Given the description of an element on the screen output the (x, y) to click on. 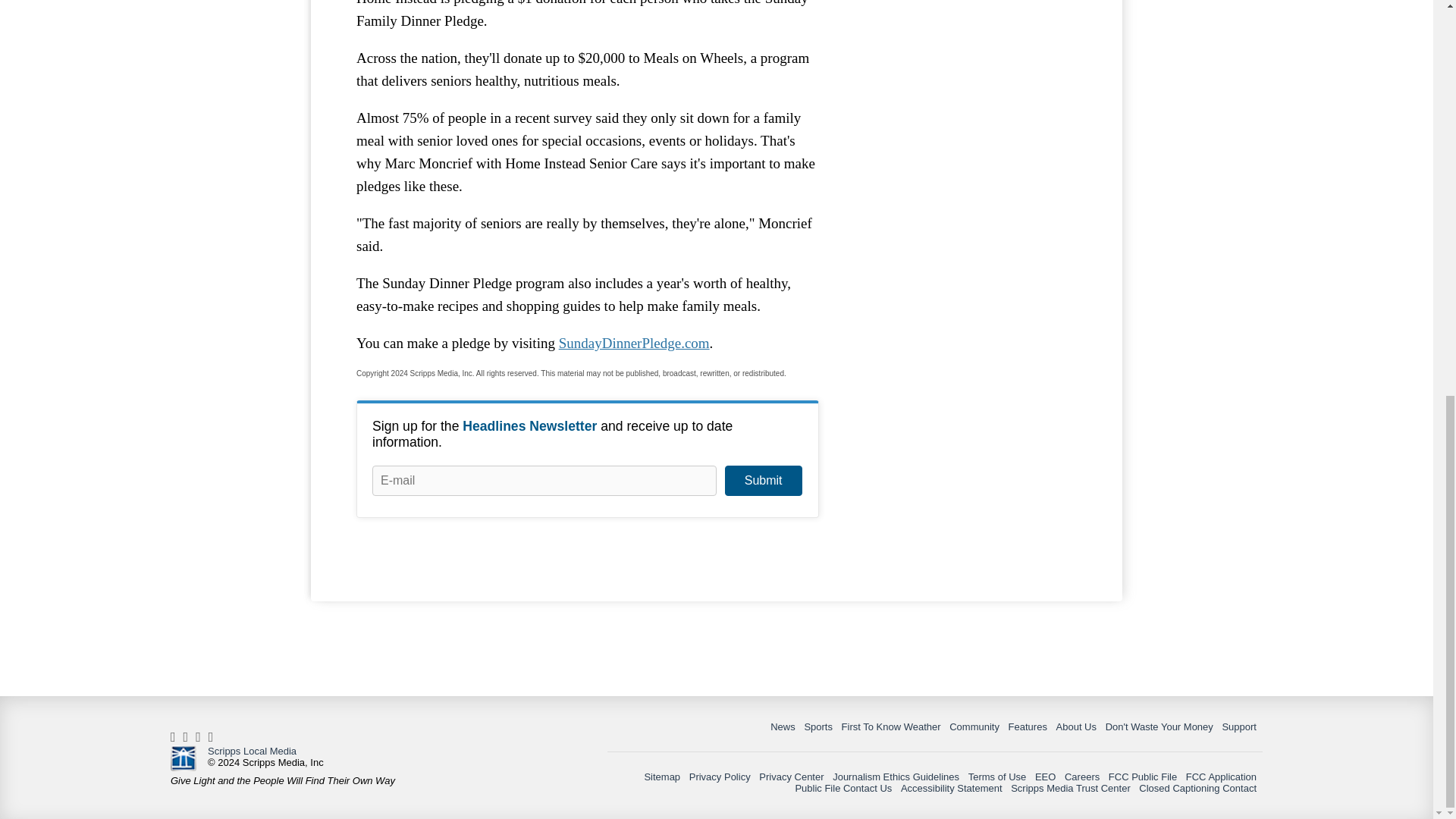
Submit (763, 481)
